Given the description of an element on the screen output the (x, y) to click on. 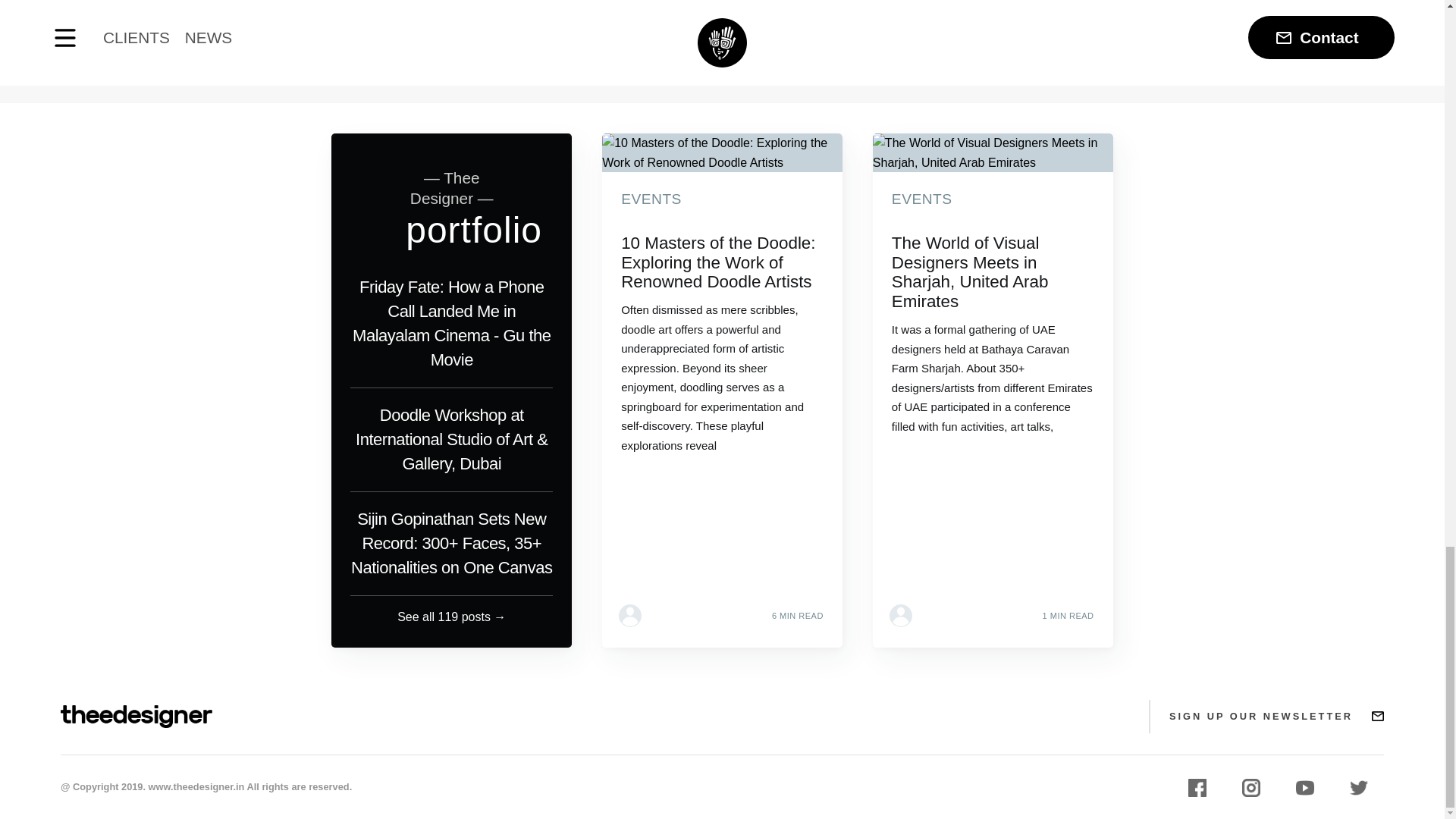
portfolio (473, 229)
